Given the description of an element on the screen output the (x, y) to click on. 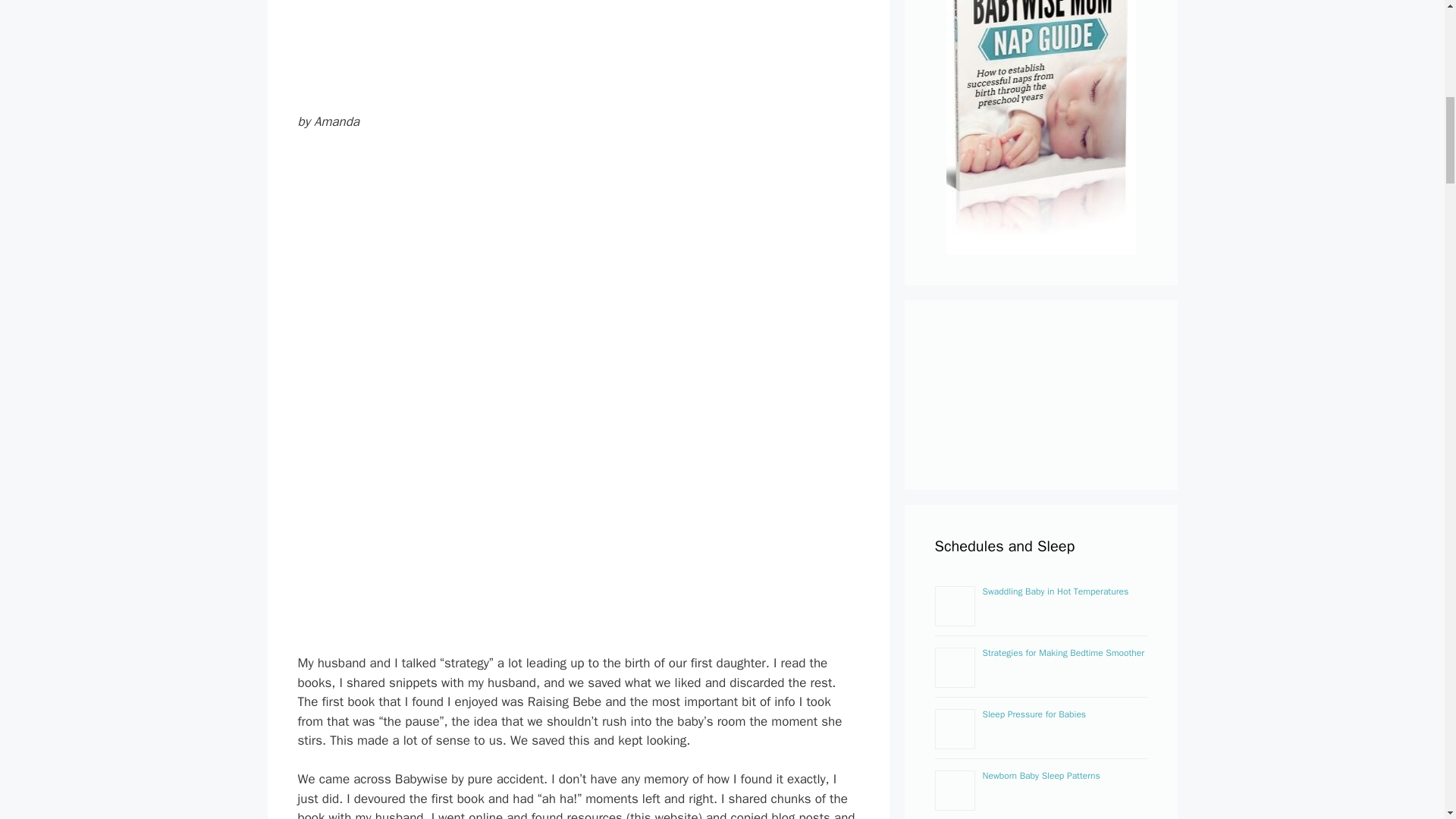
Scroll back to top (1406, 720)
